Given the description of an element on the screen output the (x, y) to click on. 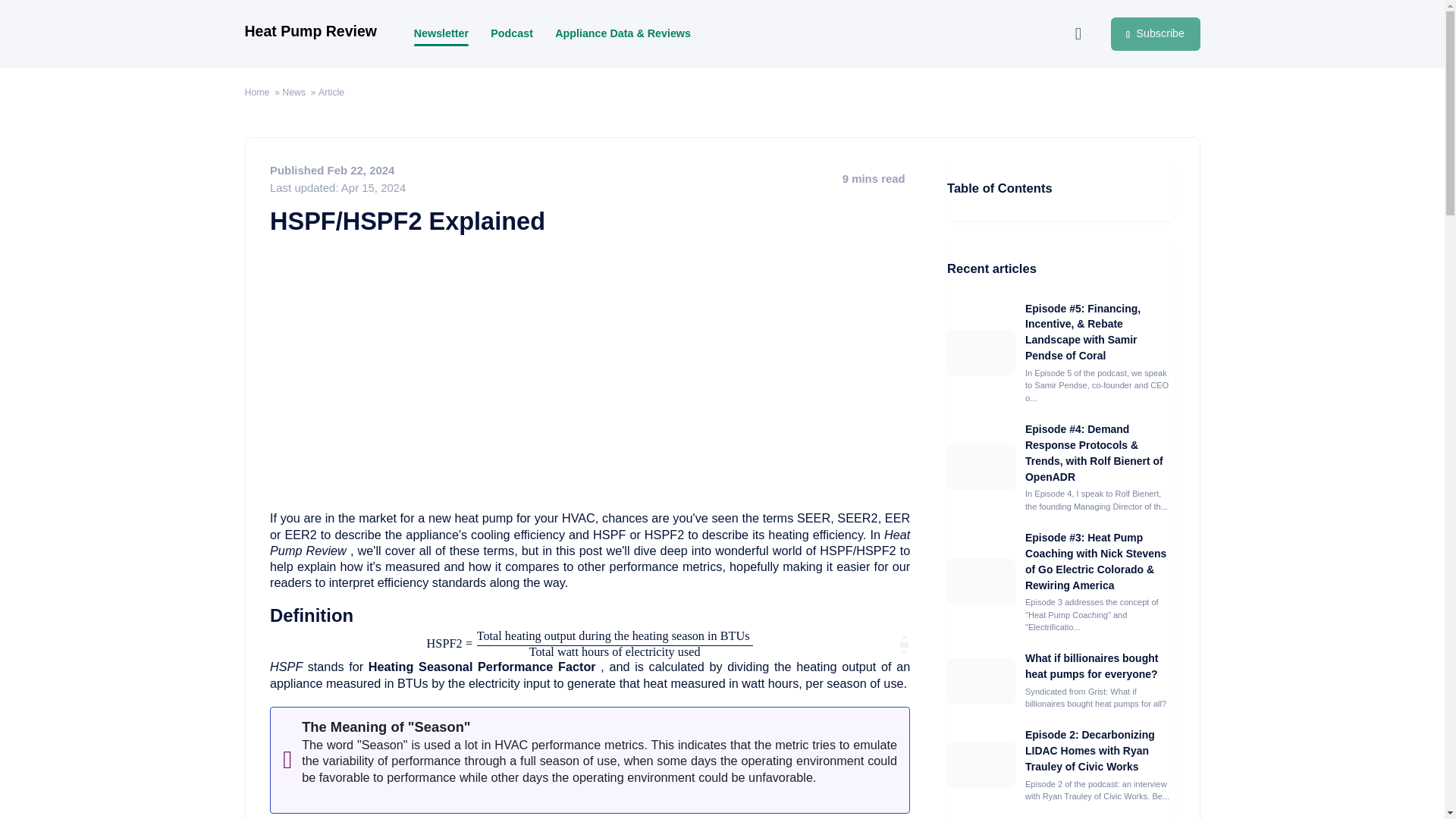
News (293, 92)
Subscribe (1154, 33)
Podcast (511, 33)
Article (330, 92)
Home (256, 92)
Newsletter (440, 33)
What if billionaires bought heat pumps for everyone? (1091, 665)
Heat Pump Review (309, 33)
